Given the description of an element on the screen output the (x, y) to click on. 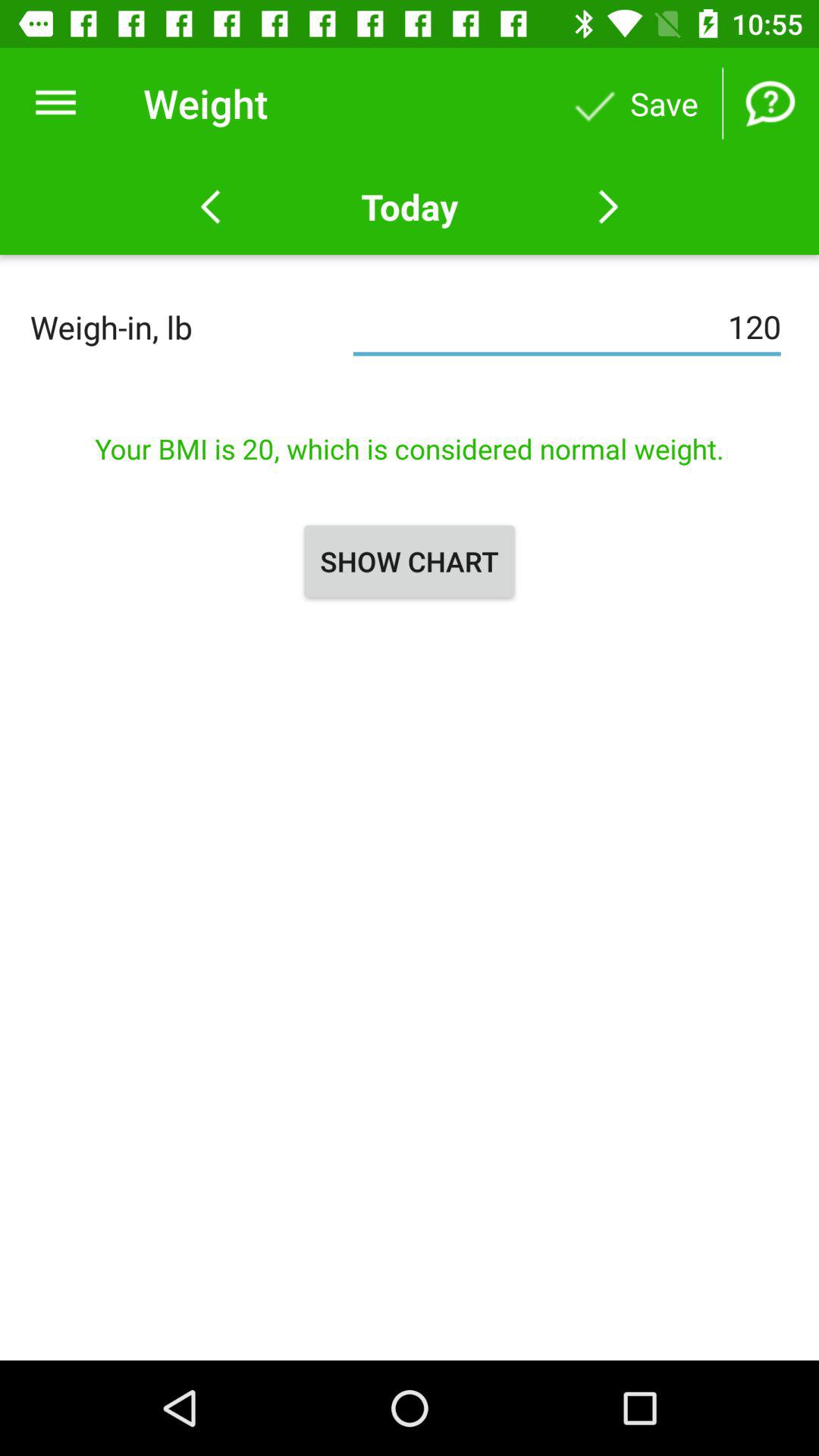
go to next (608, 206)
